Given the description of an element on the screen output the (x, y) to click on. 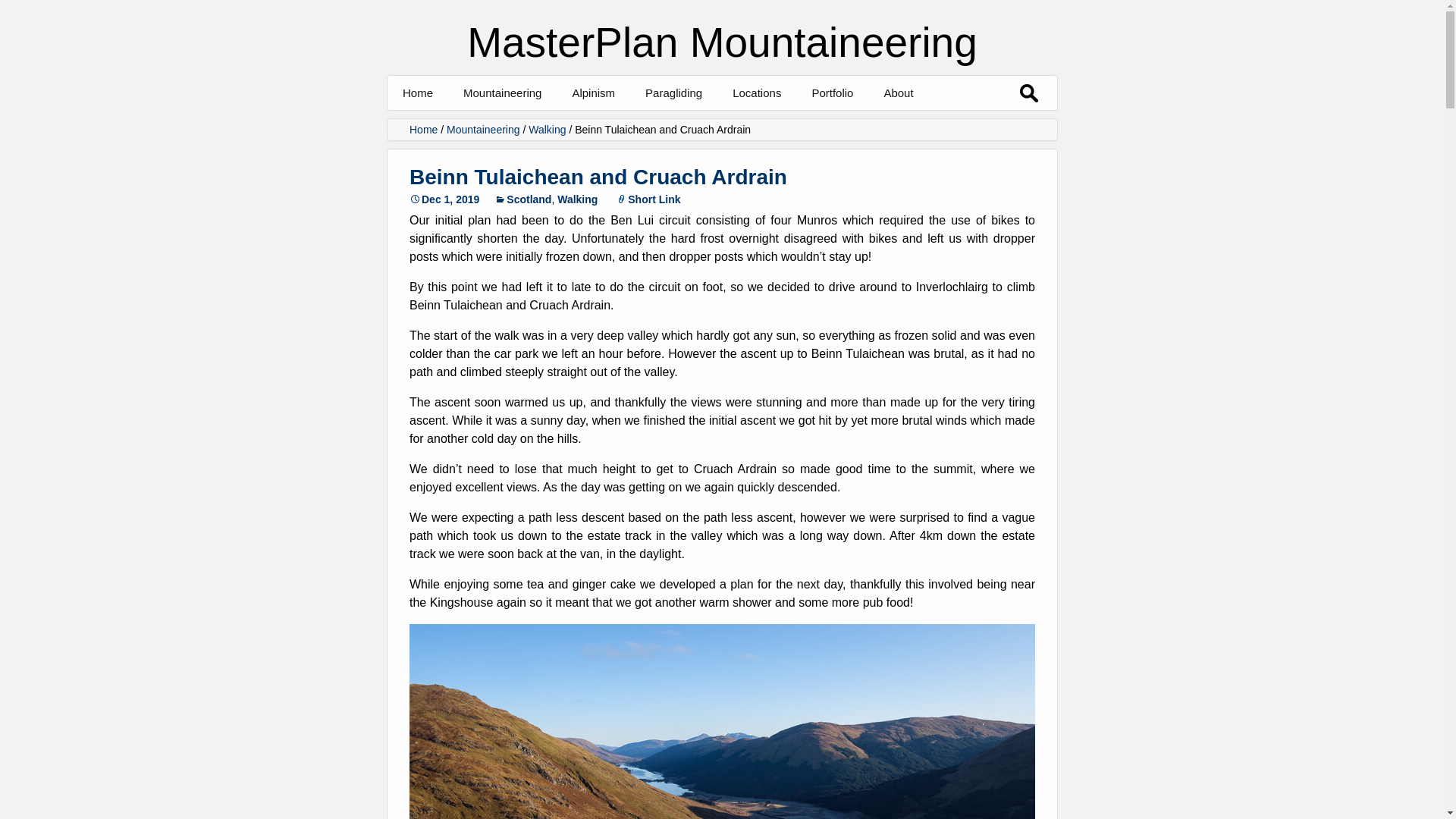
Climbing-Alpine (887, 126)
About (958, 126)
Mountaineering (502, 92)
About (897, 92)
Portfolio (831, 92)
North Wales (808, 126)
Locations (756, 92)
Alpinism (593, 92)
Permalink to Beinn Tulaichean and Cruach Ardrain (444, 199)
All (539, 126)
